Given the description of an element on the screen output the (x, y) to click on. 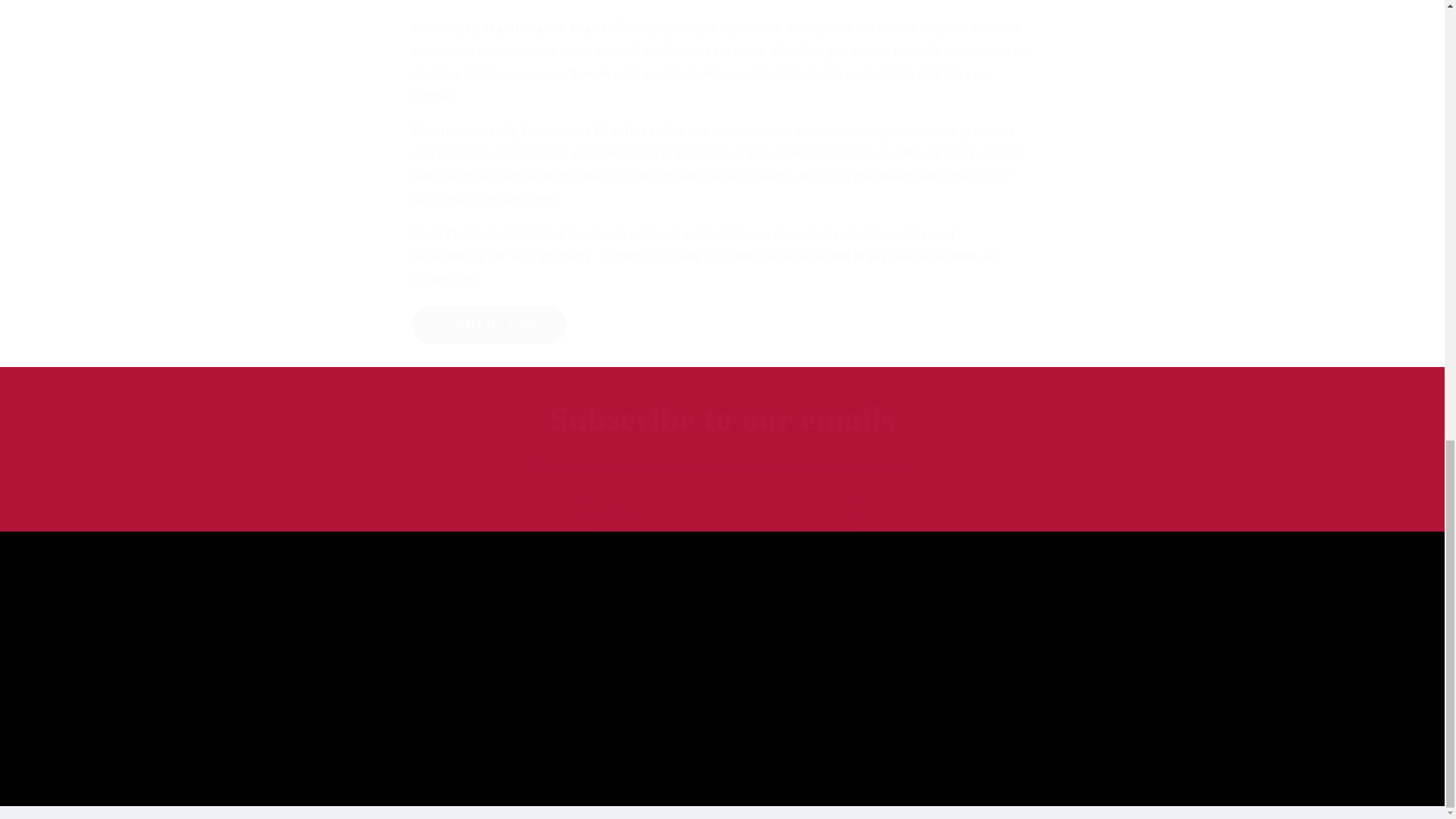
Email (609, 660)
Contact Us Today (834, 660)
Subscribe to our emails (722, 513)
